Given the description of an element on the screen output the (x, y) to click on. 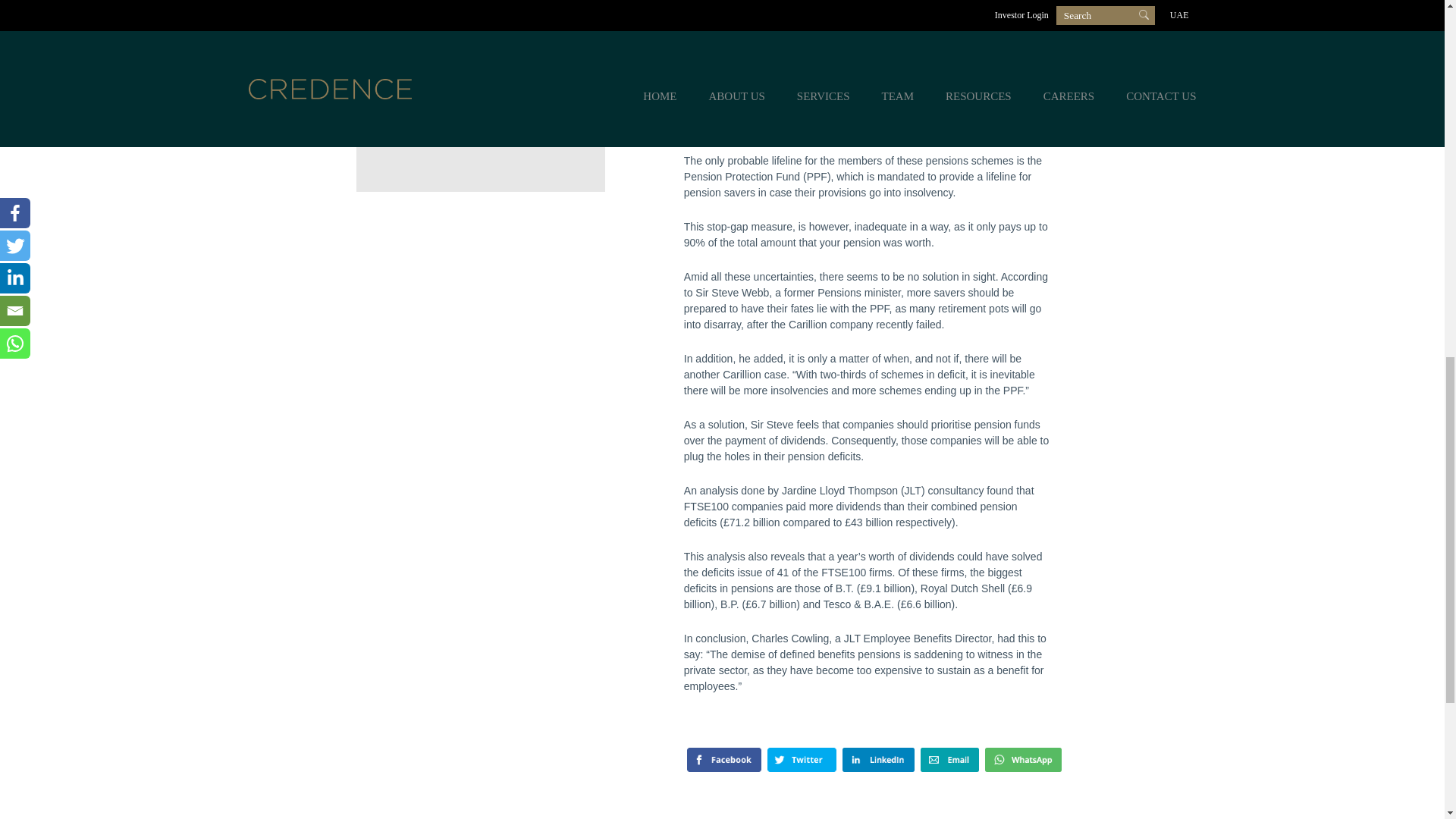
WhatsApp (745, 784)
Email (1029, 759)
Facebook (740, 759)
Submit (443, 122)
Twitter (839, 759)
Submit (443, 122)
LinkedIn (937, 759)
